Given the description of an element on the screen output the (x, y) to click on. 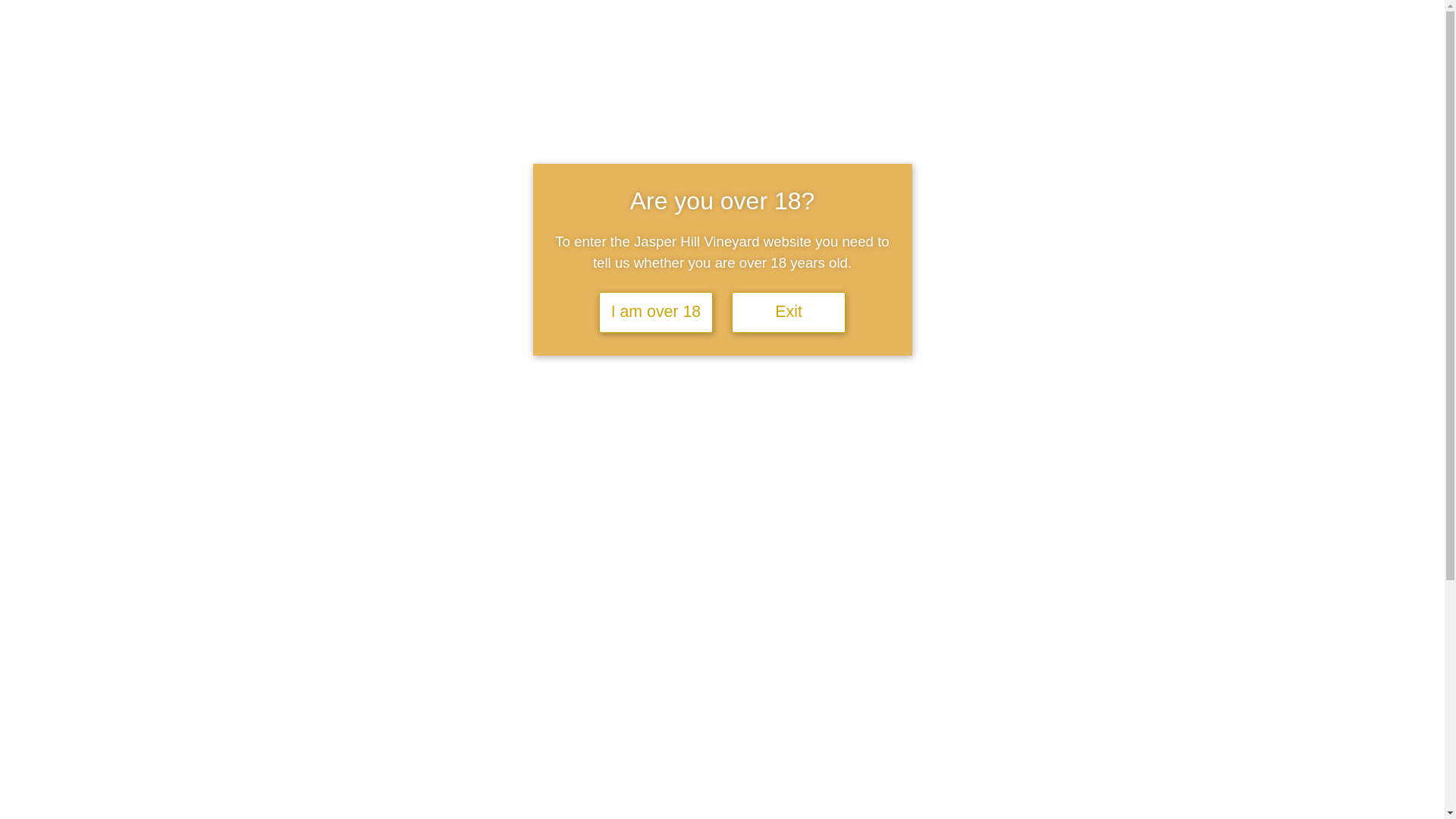
THE SOILS Element type: text (558, 141)
CONTACT US Element type: text (1009, 141)
Exit Element type: text (788, 311)
PREVIOUS
Lo Stesso Fiano 750mL Element type: text (554, 724)
NEXT
La Pleiade Heathcote Shiraz 750mL Element type: text (889, 724)
M. Chapoutier Australia Element type: text (939, 411)
WINES & SALES Element type: text (916, 141)
ABOUT US Element type: text (482, 141)
HOME Element type: text (417, 141)
TASTING NOTES Element type: text (815, 141)
AGLY-BROTHERS Element type: hover (551, 486)
I am over 18 Element type: text (655, 311)
THE VINEYARDS Element type: text (648, 141)
AGENTS Element type: text (732, 141)
